Given the description of an element on the screen output the (x, y) to click on. 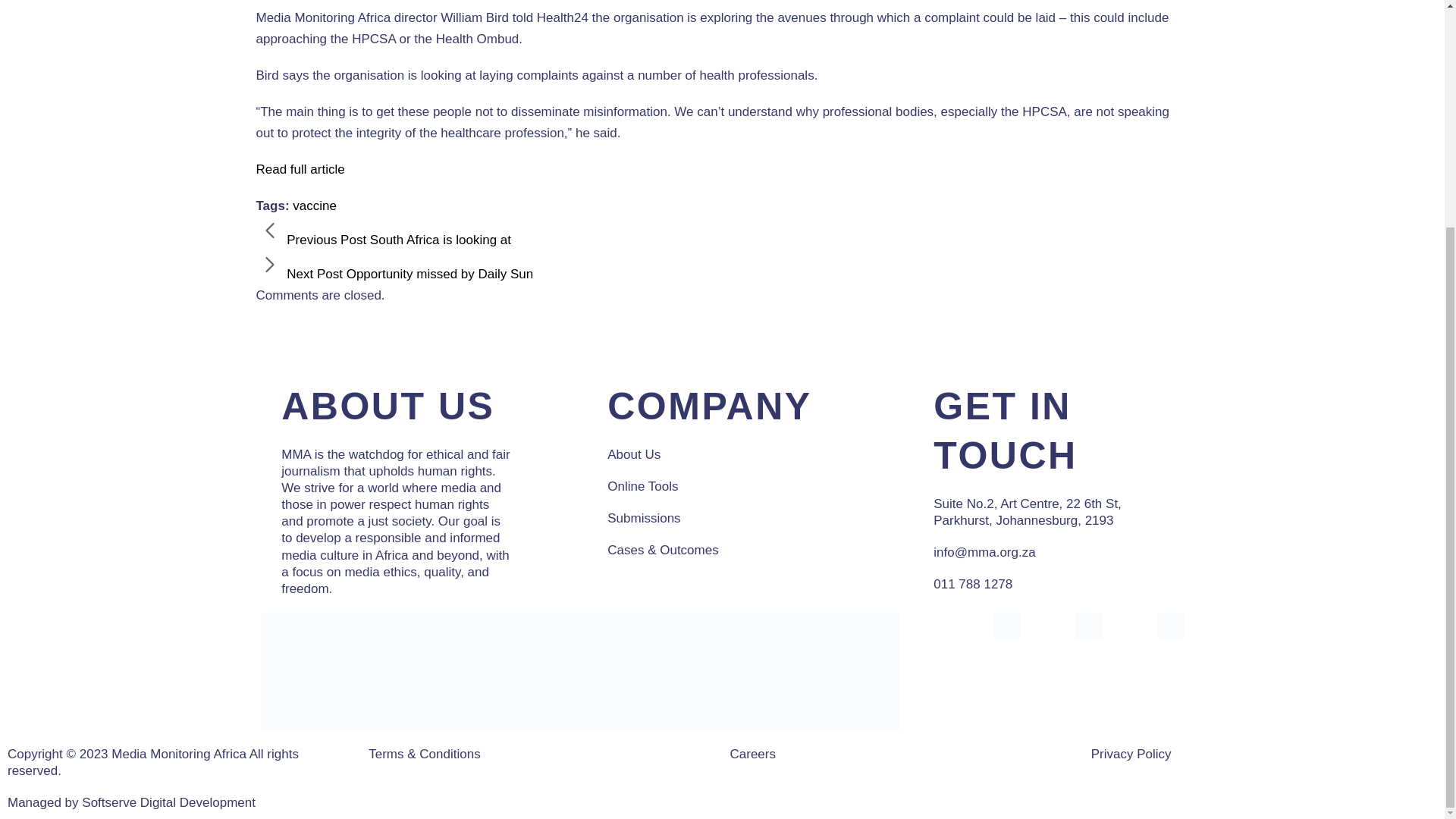
Previous Post South Africa is looking at (384, 239)
Submissions (643, 518)
yt (1170, 625)
Read full article (300, 169)
twt (1088, 625)
vaccine (314, 205)
About Us (634, 454)
Next Post Opportunity missed by Daily Sun (395, 273)
Online Tools (642, 486)
fb (1007, 625)
Opportunity missed by Daily Sun (395, 273)
